Given the description of an element on the screen output the (x, y) to click on. 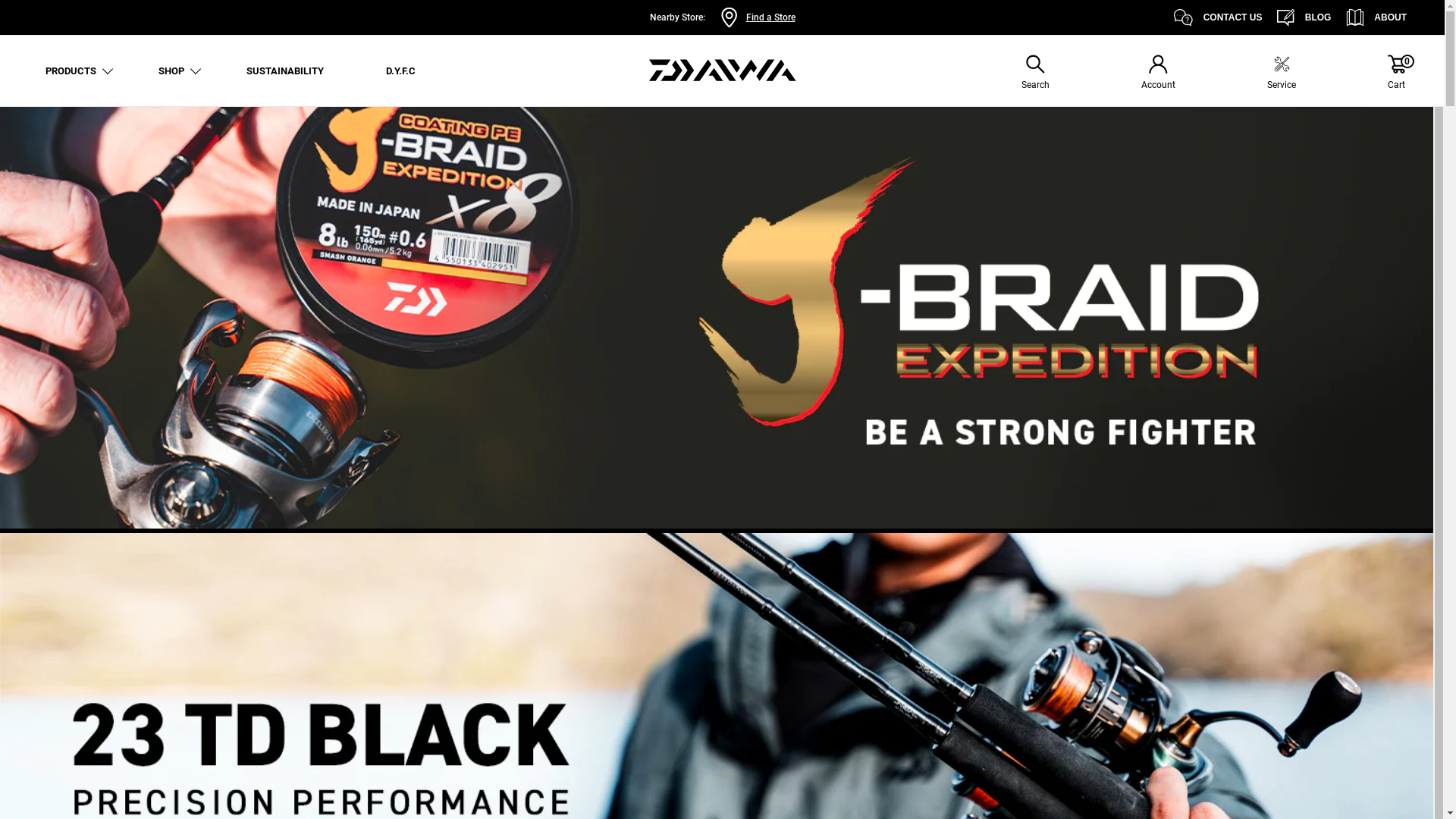
ABOUT Element type: text (1376, 17)
Account Element type: text (1158, 73)
D.Y.F.C Element type: text (400, 70)
CONTACT US Element type: text (1217, 17)
SUSTAINABILITY Element type: text (284, 70)
0
Cart Element type: text (1396, 73)
BLOG Element type: text (1303, 17)
Service Element type: text (1281, 73)
Find a Store Element type: text (770, 16)
Search Element type: text (1035, 73)
PRODUCTS Element type: text (70, 70)
SHOP Element type: text (170, 70)
